Given the description of an element on the screen output the (x, y) to click on. 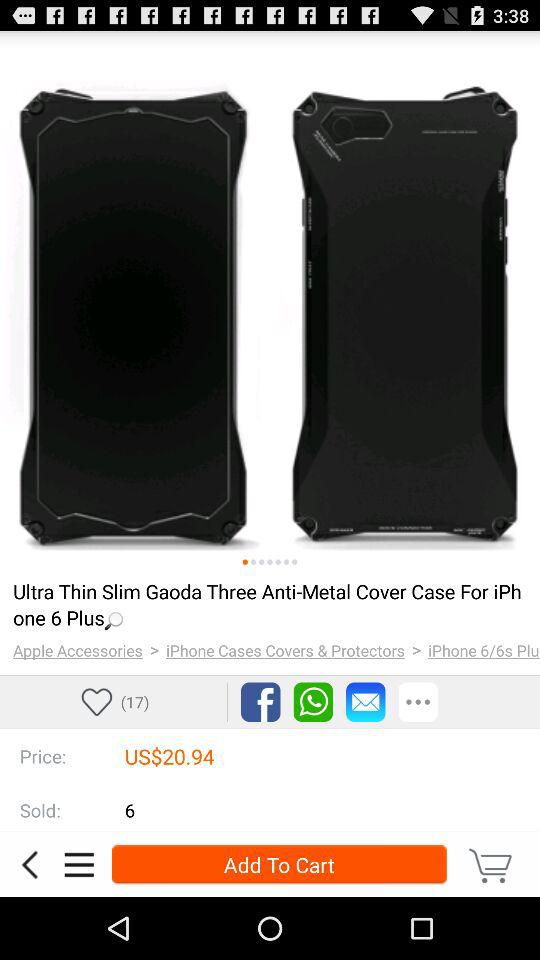
send to whatsapp (313, 701)
